Given the description of an element on the screen output the (x, y) to click on. 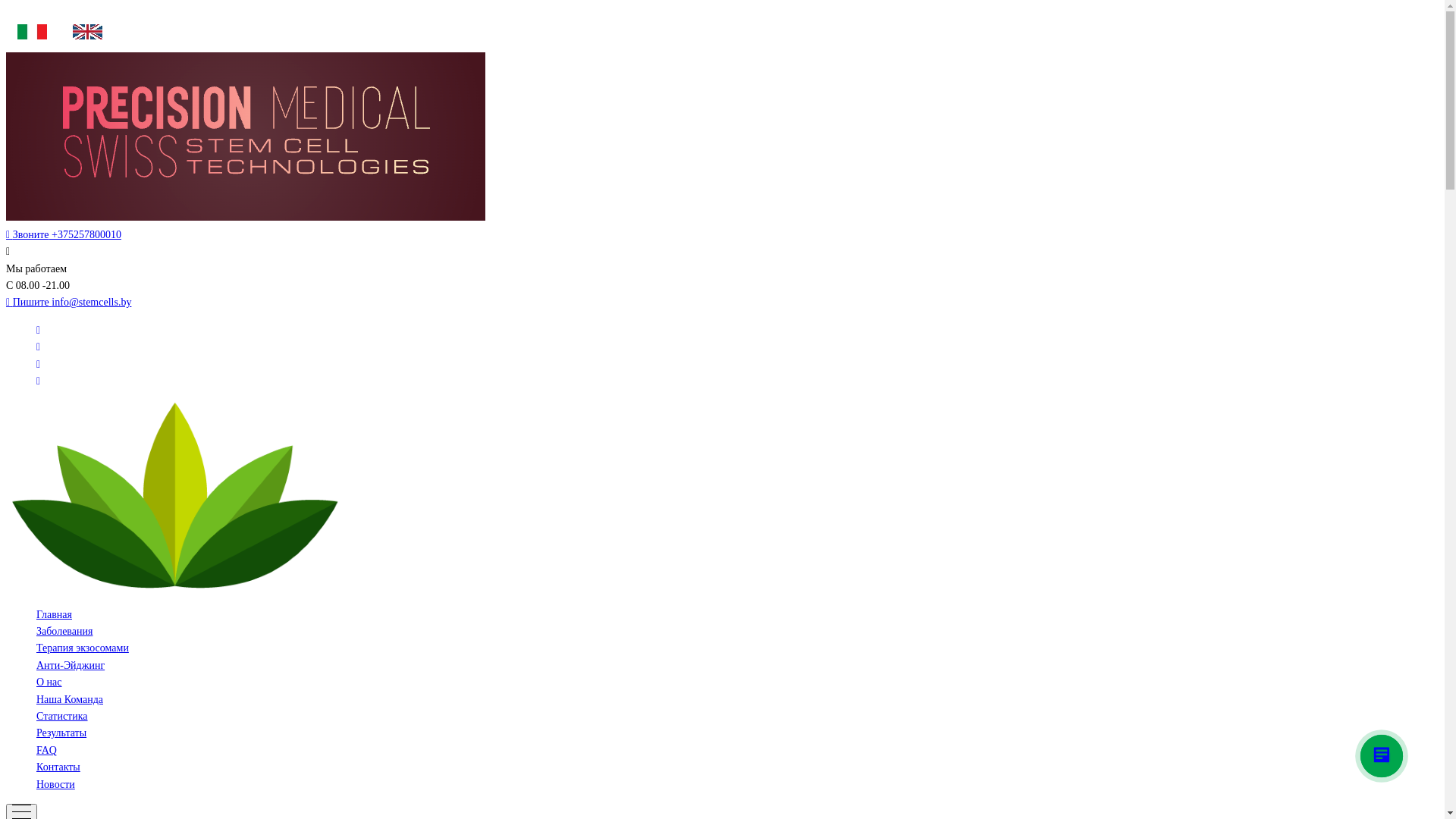
FAQ Element type: text (46, 750)
